Given the description of an element on the screen output the (x, y) to click on. 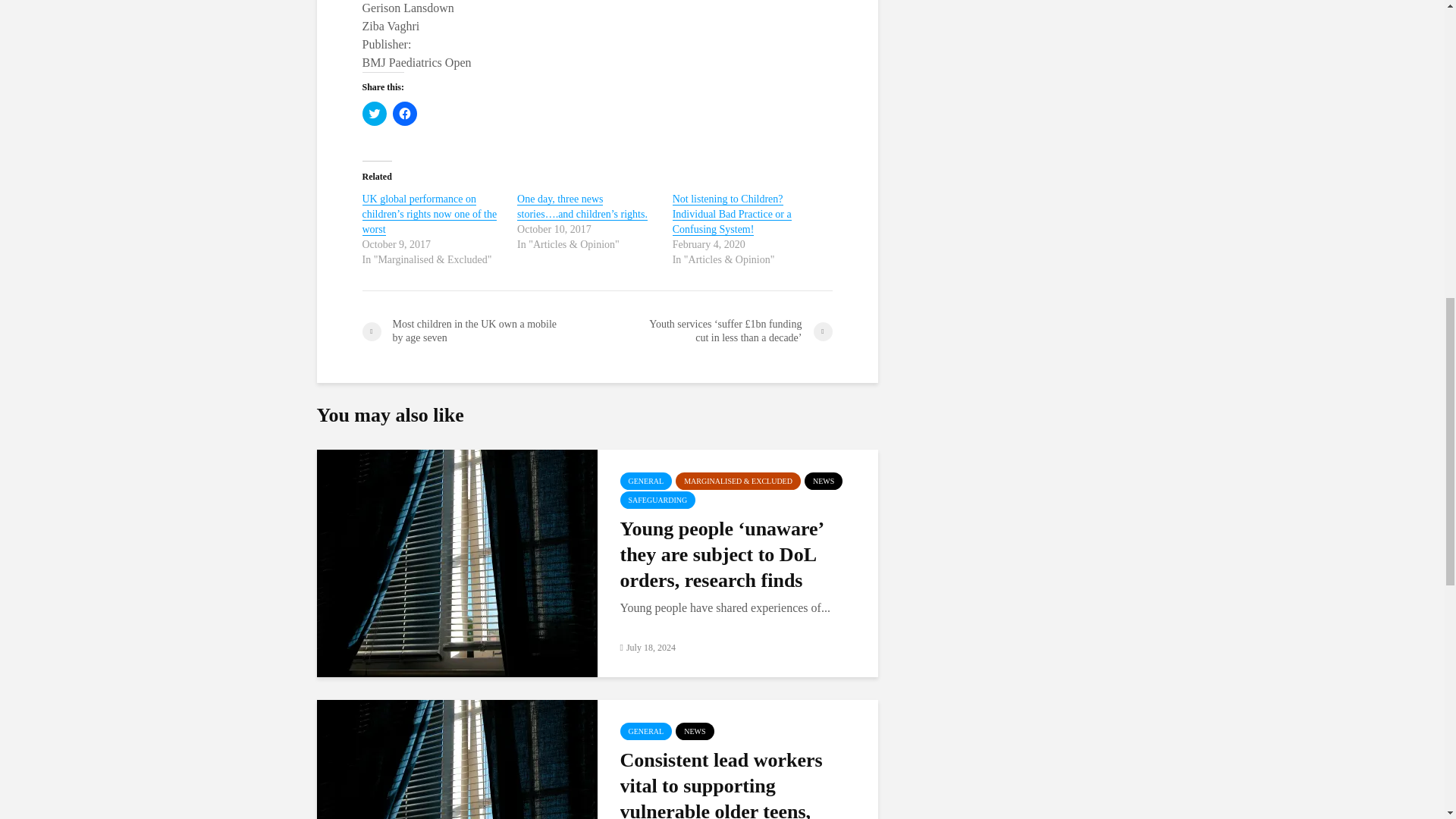
Click to share on Twitter (374, 113)
Most children in the UK own a mobile by age seven (479, 330)
Click to share on Facebook (404, 113)
